Given the description of an element on the screen output the (x, y) to click on. 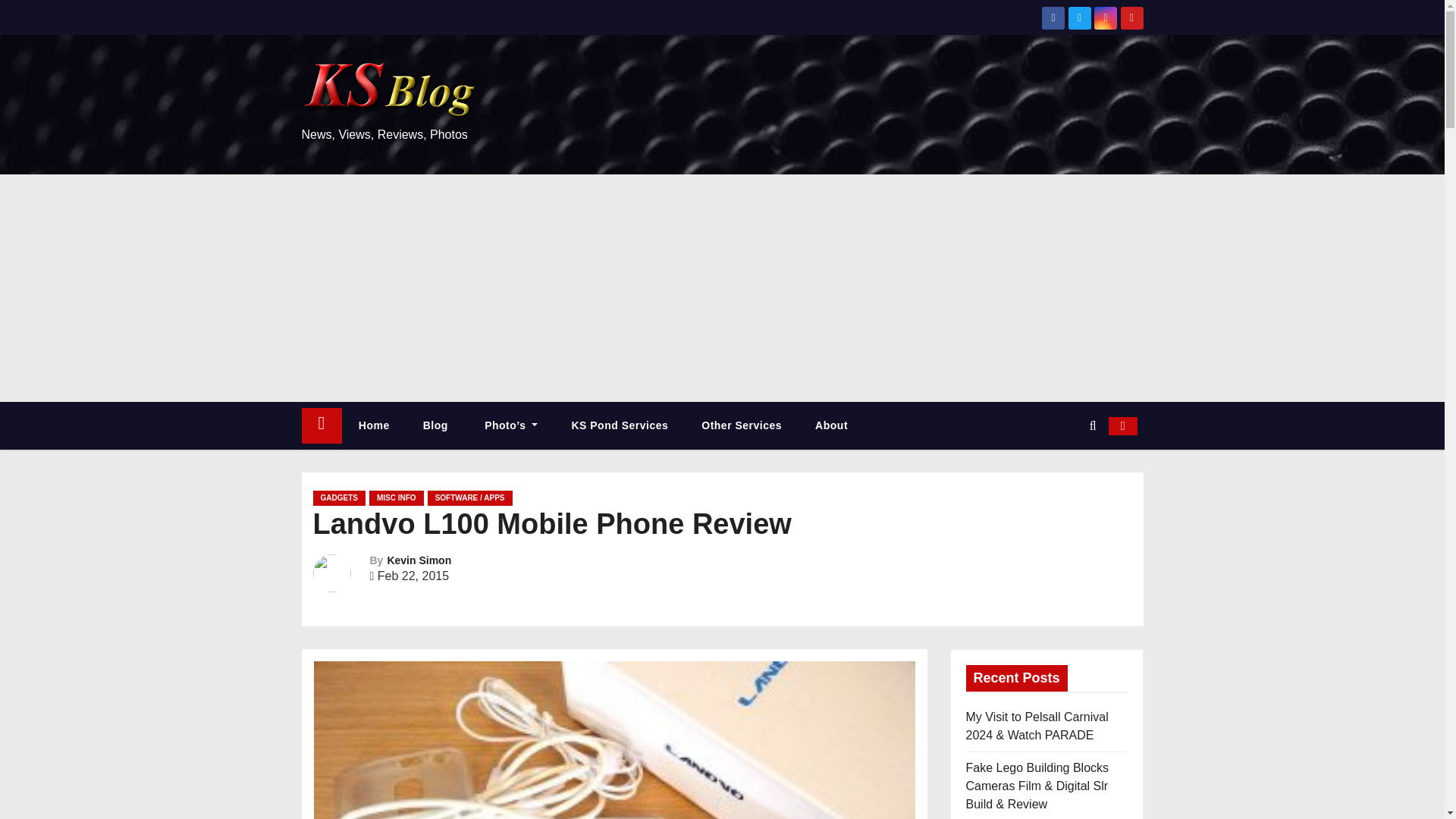
Home (321, 425)
Home (374, 425)
Blog (435, 425)
Blog (435, 425)
Home (374, 425)
